Given the description of an element on the screen output the (x, y) to click on. 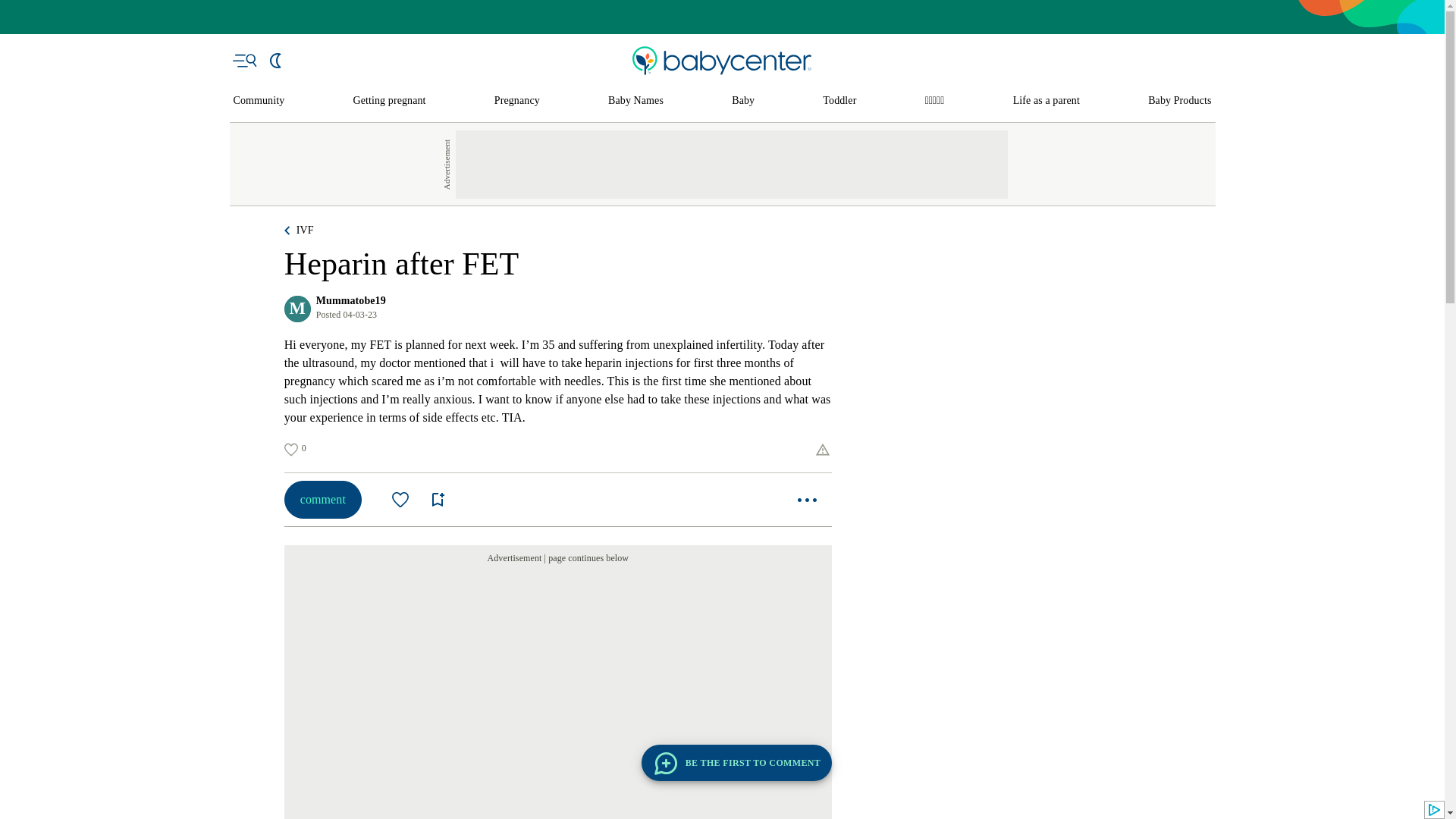
Baby Products (1179, 101)
Toddler (839, 101)
Pregnancy (517, 101)
Baby Names (635, 101)
Baby (743, 101)
Life as a parent (1046, 101)
Community (258, 101)
Getting pregnant (389, 101)
